Given the description of an element on the screen output the (x, y) to click on. 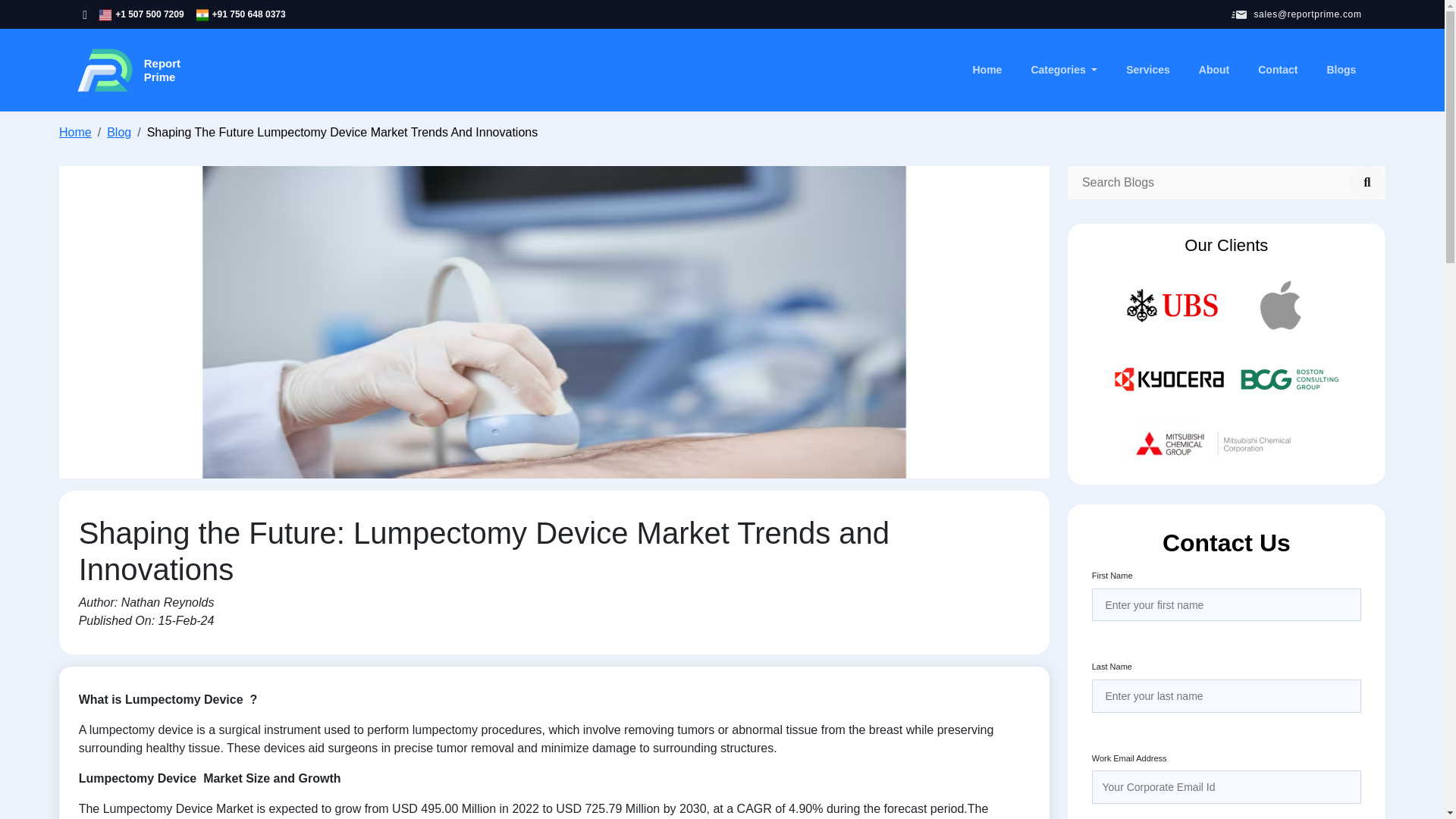
About (1213, 70)
Blog (127, 69)
Blogs (118, 132)
Services (1340, 70)
Home (1147, 70)
Home (986, 70)
home (75, 132)
Contact (75, 132)
Categories (1277, 70)
Blog (1064, 70)
